Given the description of an element on the screen output the (x, y) to click on. 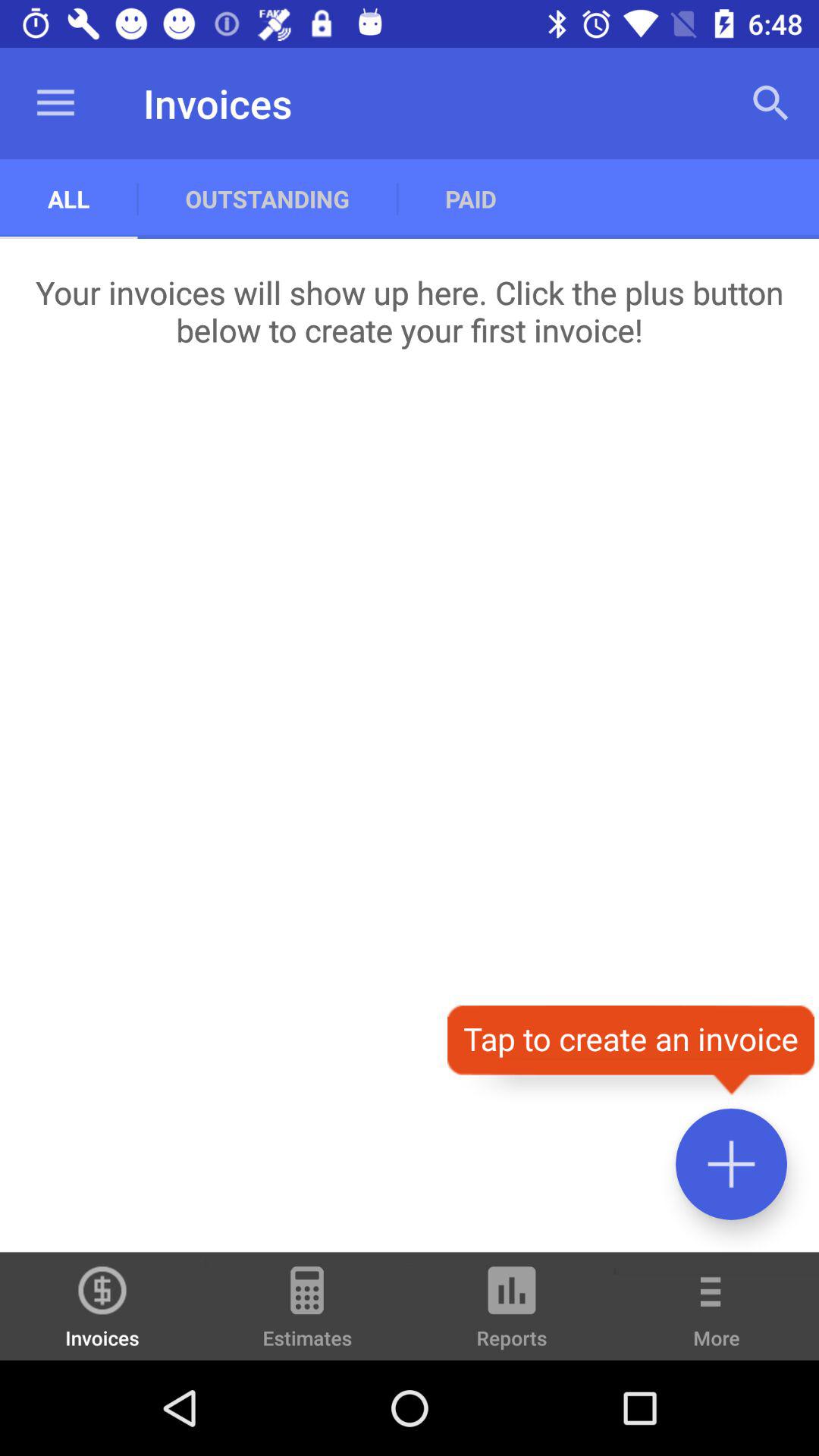
tap the icon above your invoices will (771, 103)
